Given the description of an element on the screen output the (x, y) to click on. 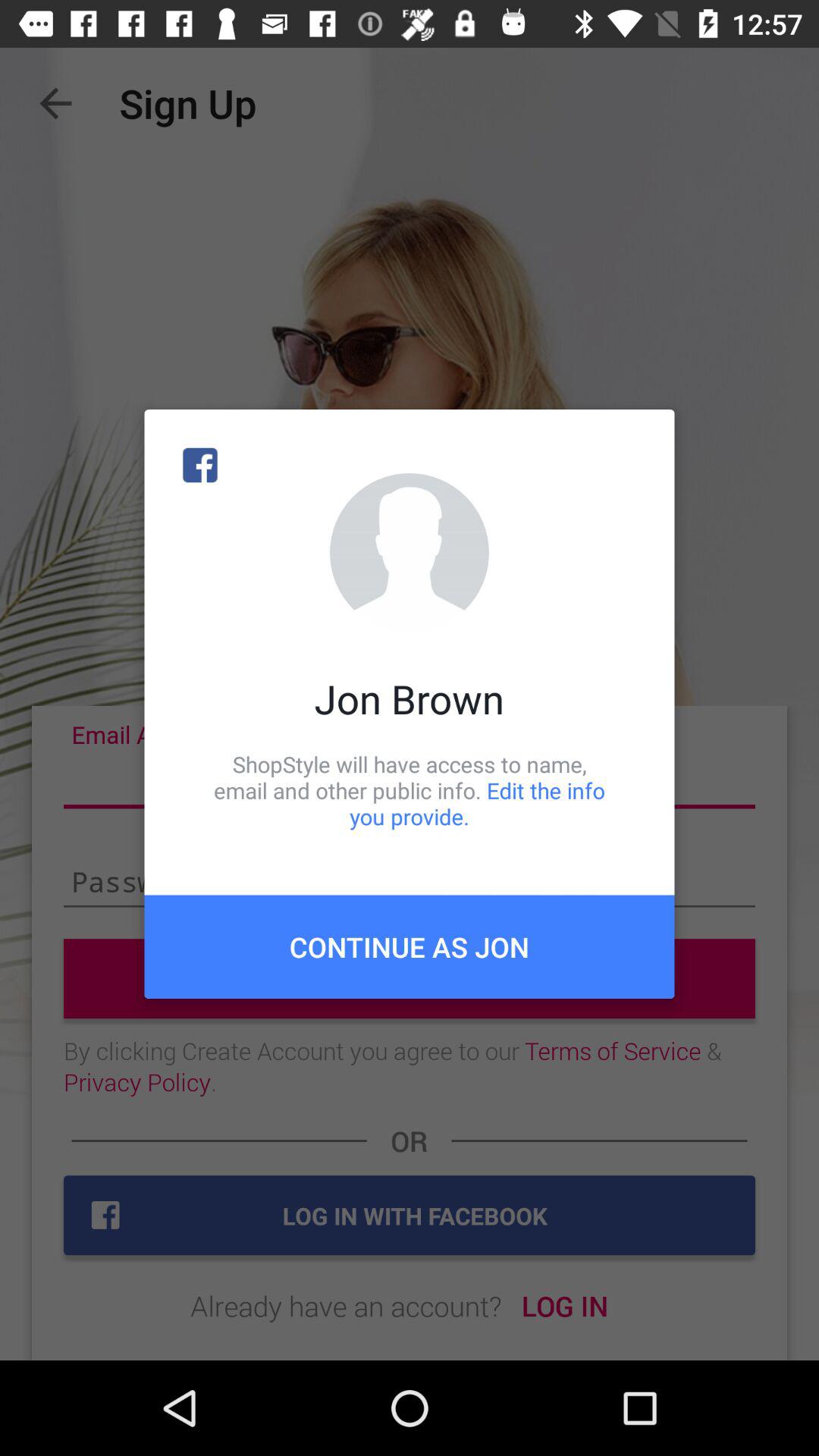
scroll to shopstyle will have icon (409, 790)
